Given the description of an element on the screen output the (x, y) to click on. 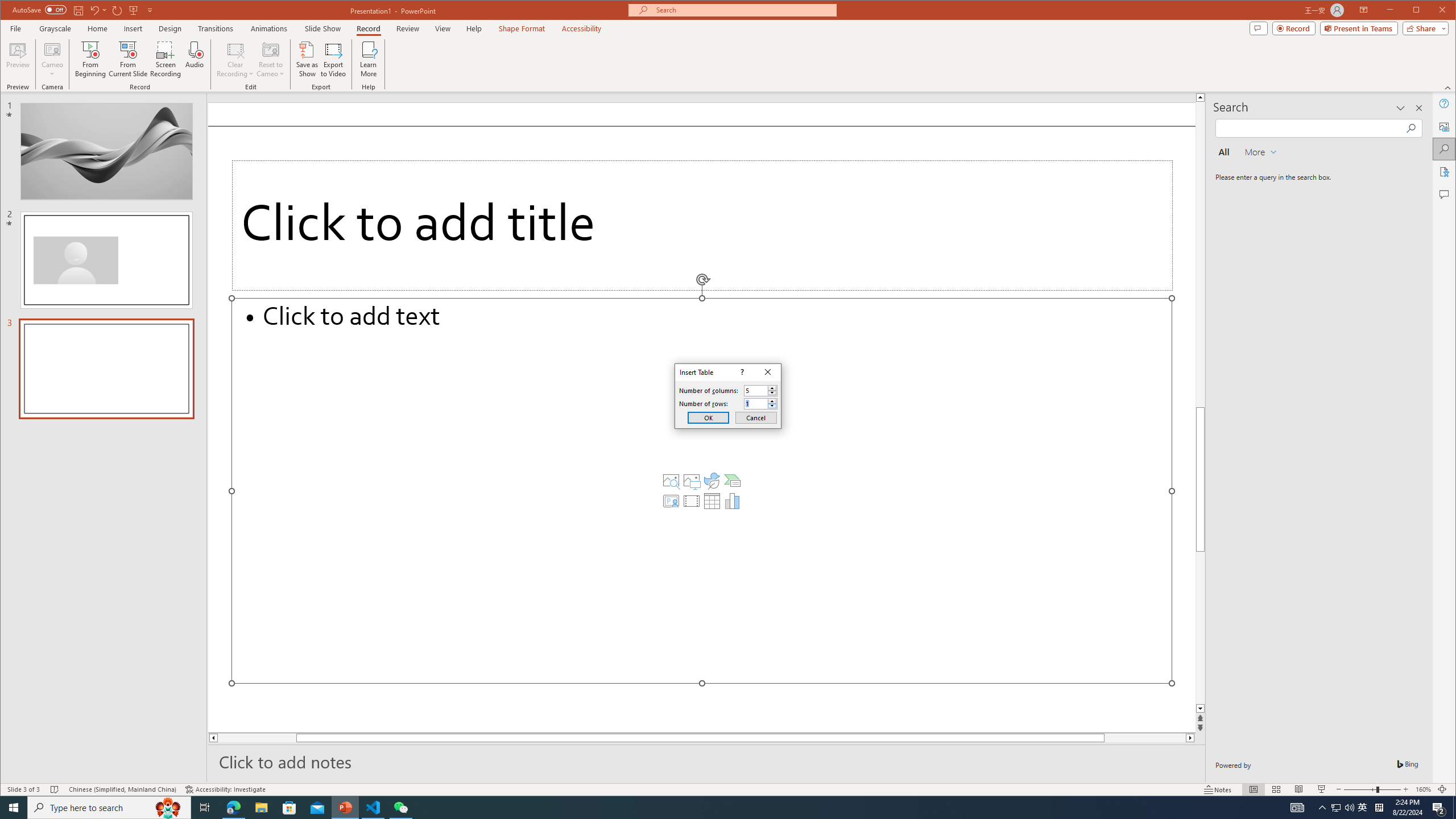
Number of rows (755, 403)
